Given the description of an element on the screen output the (x, y) to click on. 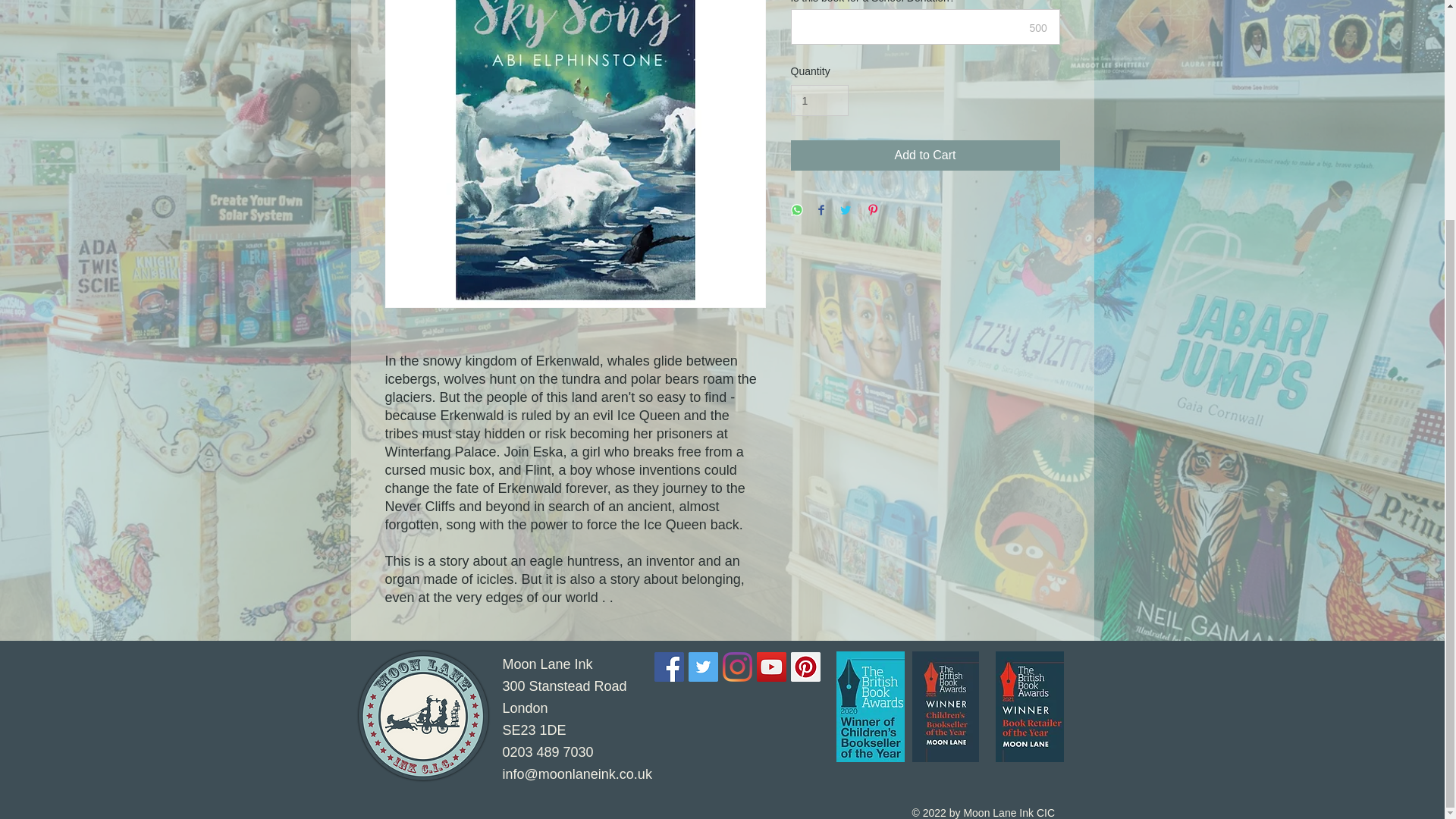
Add to Cart (924, 155)
1 (818, 100)
